Given the description of an element on the screen output the (x, y) to click on. 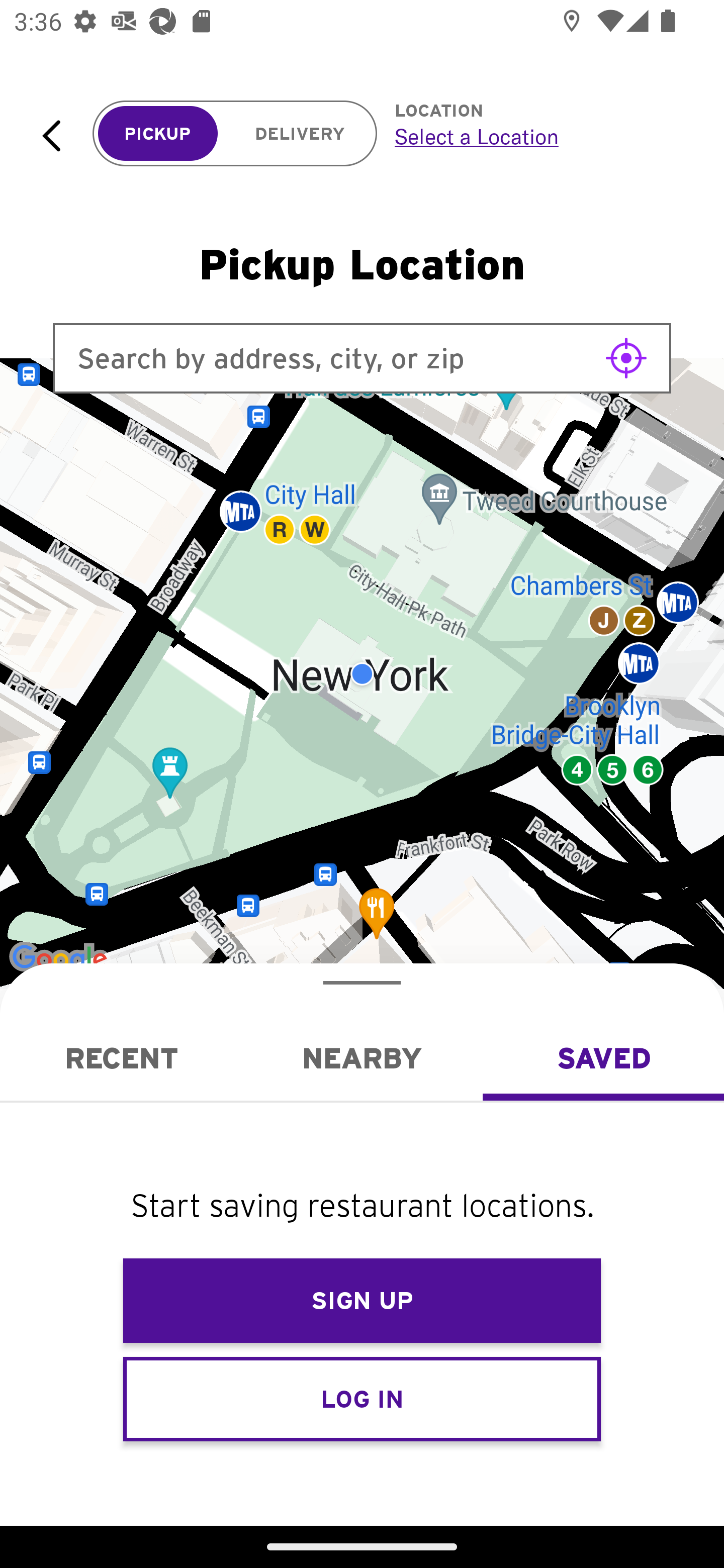
PICKUP (157, 133)
DELIVERY (299, 133)
Select a Location (536, 136)
Search by address, city, or zip (361, 358)
Google Map (362, 674)
Recent RECENT (120, 1058)
Nearby NEARBY (361, 1058)
SIGN UP (361, 1300)
LOG IN (361, 1398)
